Given the description of an element on the screen output the (x, y) to click on. 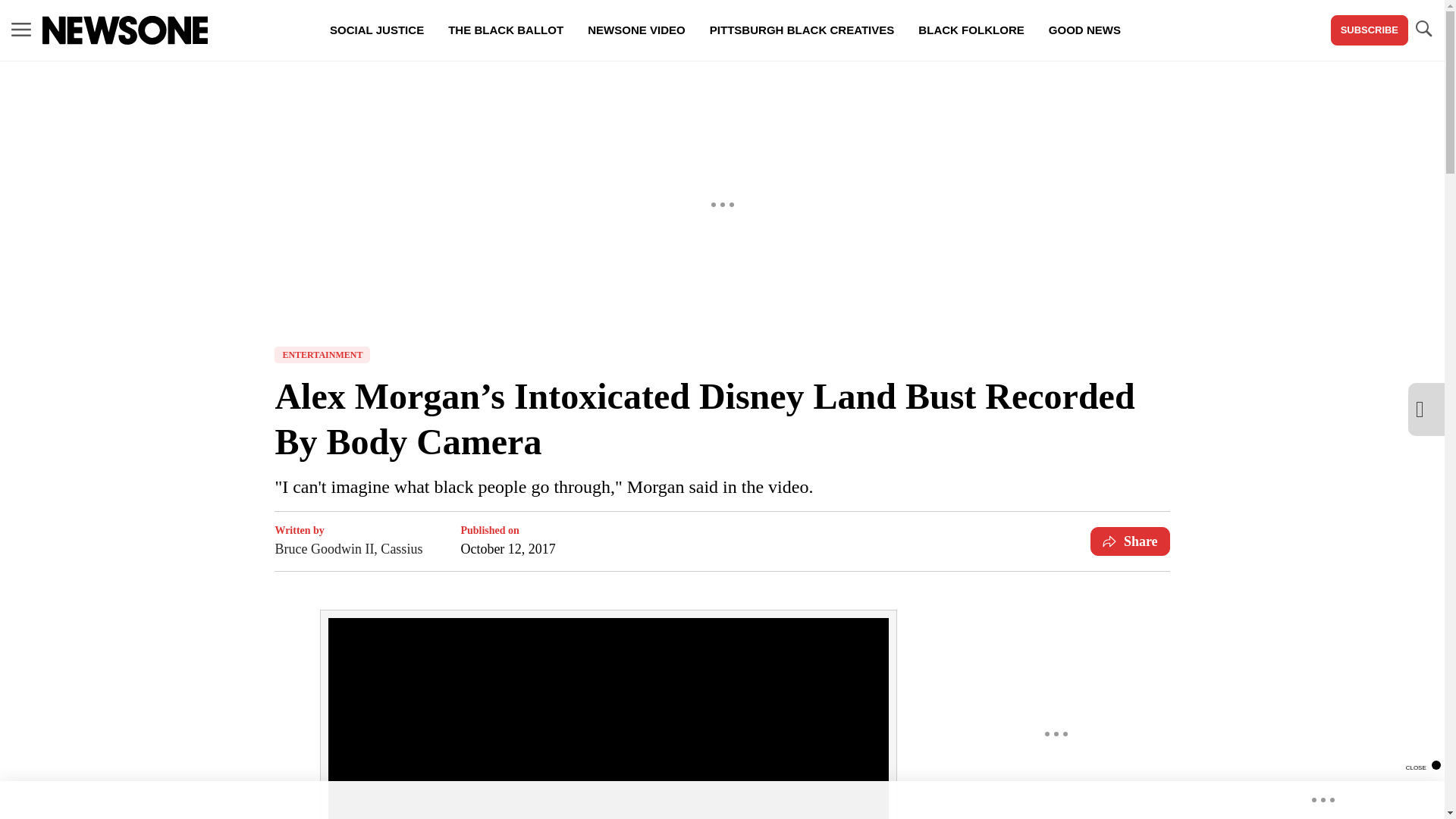
SOCIAL JUSTICE (376, 30)
TOGGLE SEARCH (1422, 28)
GOOD NEWS (1084, 30)
MENU (20, 30)
Share (1130, 541)
Bruce Goodwin II, Cassius (348, 548)
TOGGLE SEARCH (1422, 30)
THE BLACK BALLOT (505, 30)
PITTSBURGH BLACK CREATIVES (802, 30)
MENU (20, 29)
